Given the description of an element on the screen output the (x, y) to click on. 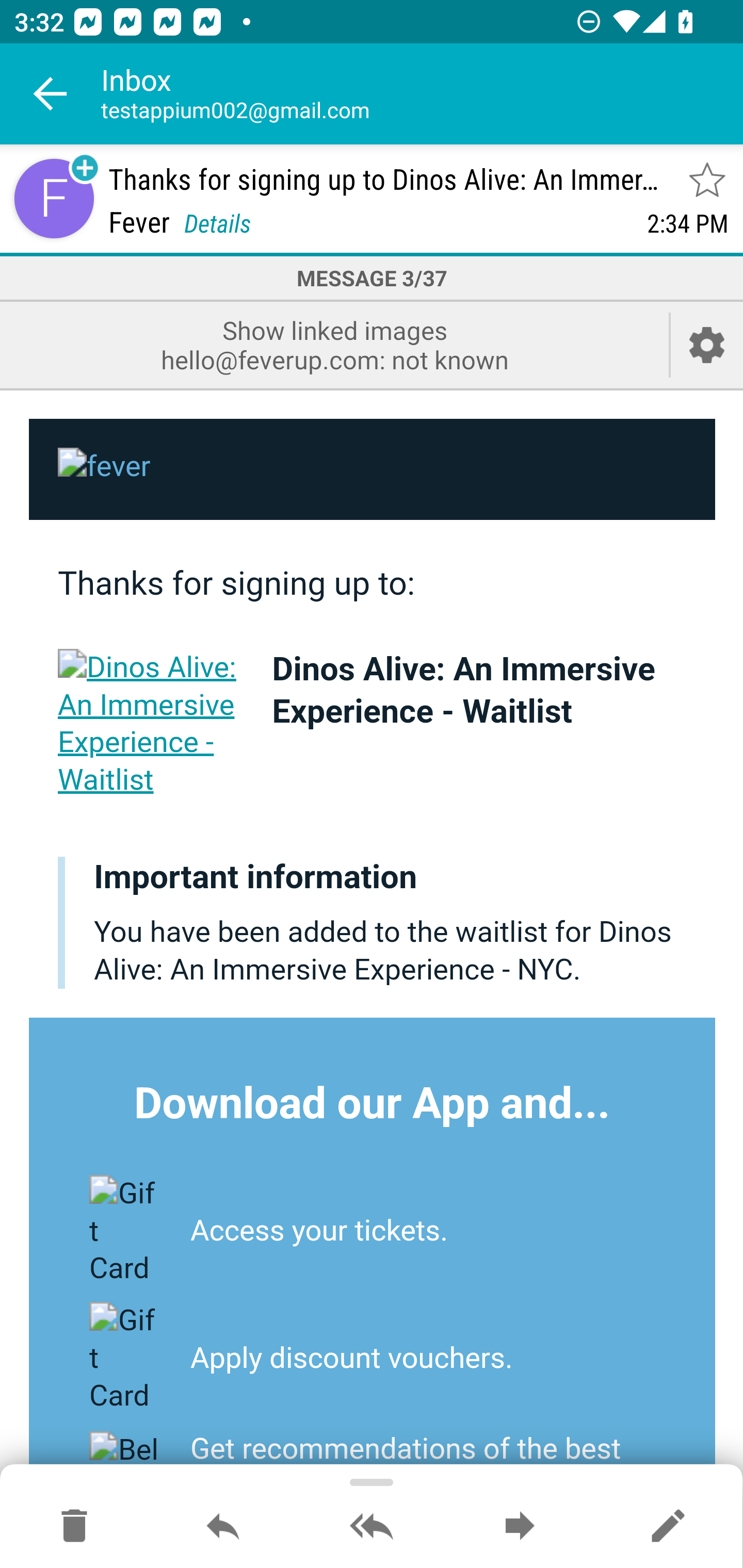
Navigate up (50, 93)
Inbox testappium002@gmail.com (422, 93)
Sender contact button (53, 198)
Show linked images
hello@feverup.com: not known (334, 344)
Account setup (706, 344)
fever (372, 470)
Dinos Alive: An Immersive Experience - Waitlist (150, 723)
Dinos Alive: An Immersive Experience - Waitlist (463, 689)
Move to Deleted (74, 1527)
Reply (222, 1527)
Reply all (371, 1527)
Forward (519, 1527)
Reply as new (667, 1527)
